Given the description of an element on the screen output the (x, y) to click on. 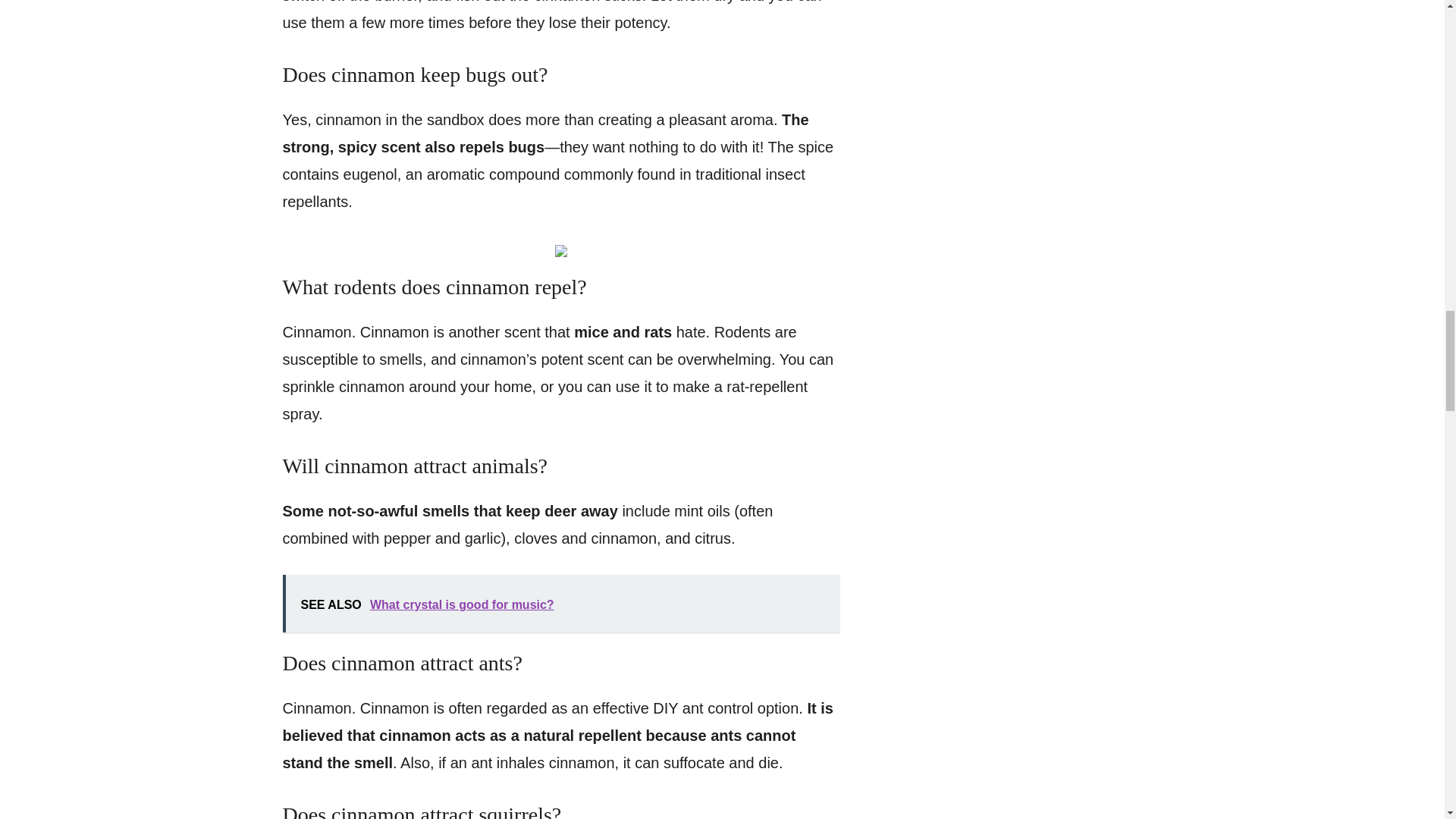
SEE ALSO  What crystal is good for music? (560, 603)
